Given the description of an element on the screen output the (x, y) to click on. 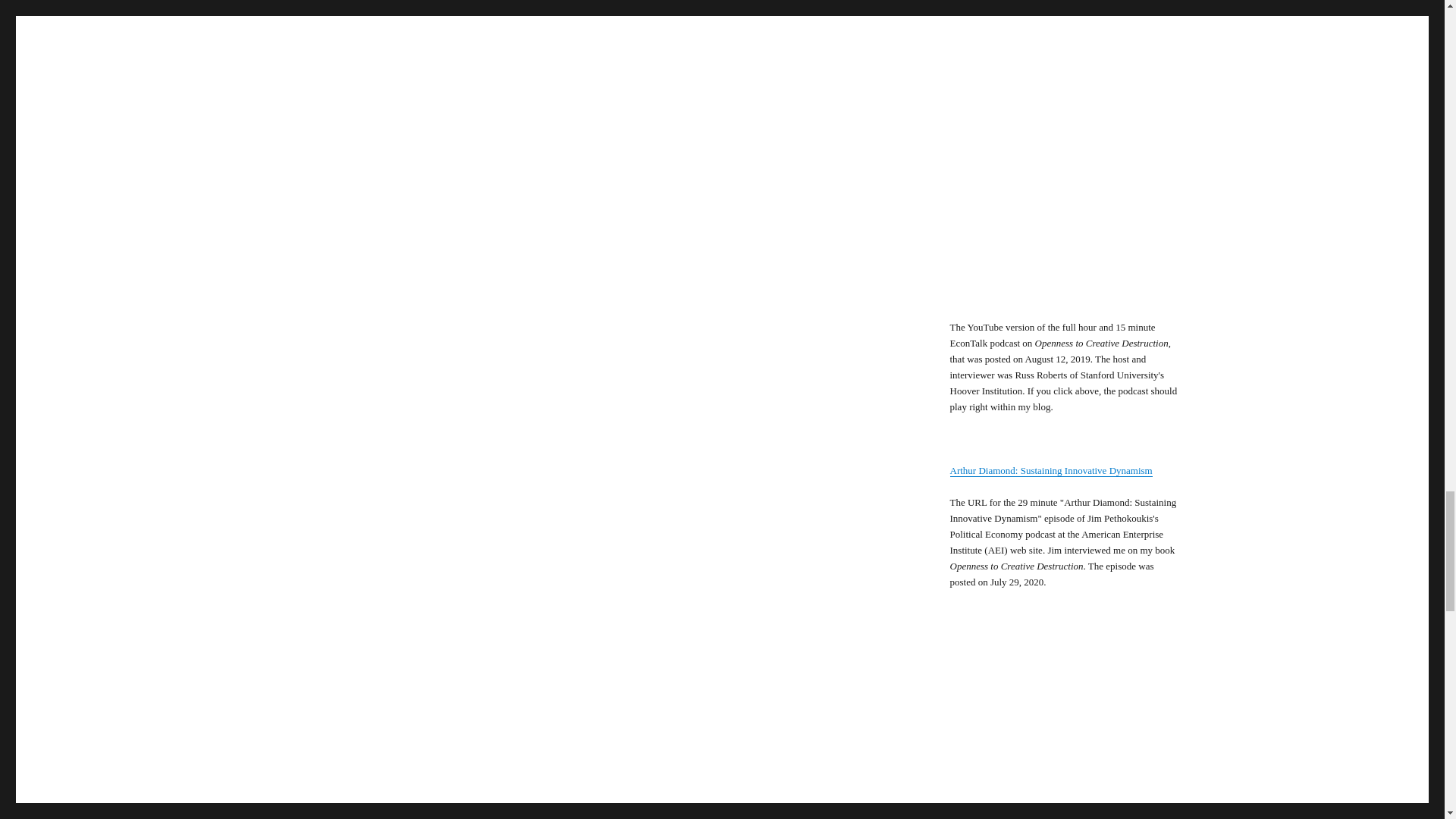
Arthur Diamond: Sustaining Innovative Dynamism (1050, 470)
